Given the description of an element on the screen output the (x, y) to click on. 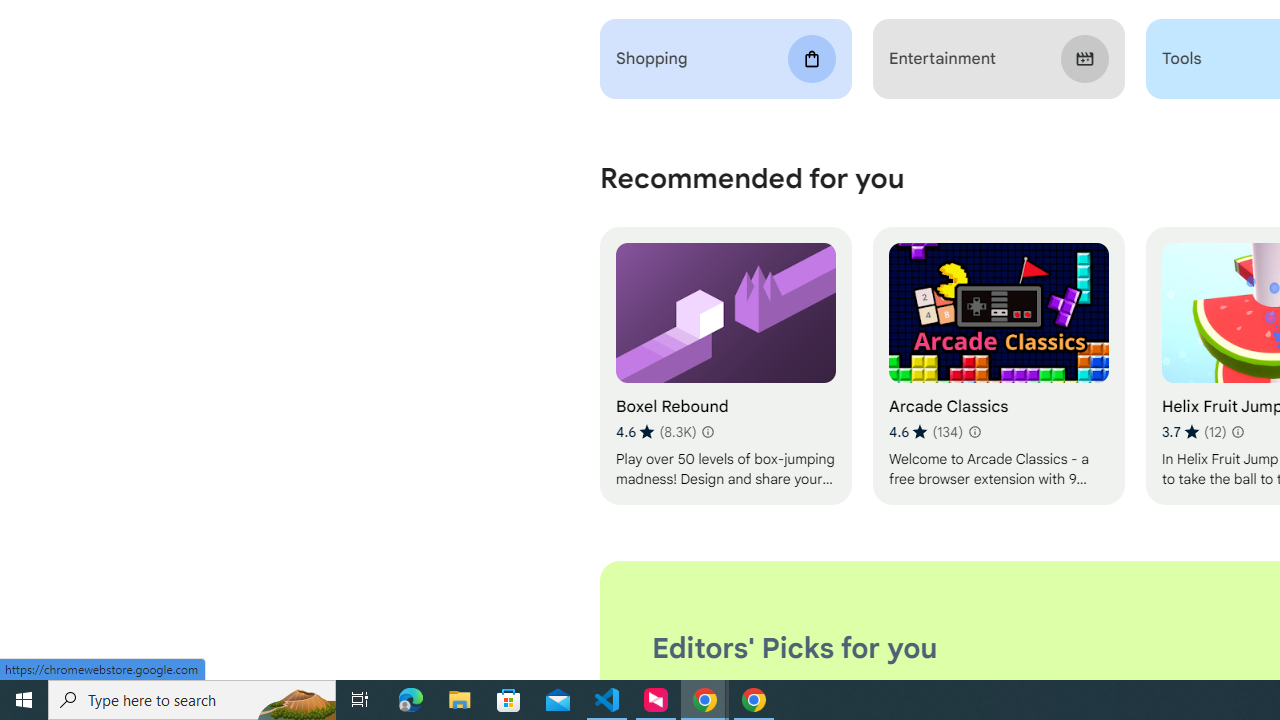
Shopping (725, 59)
Learn more about results and reviews "Boxel Rebound" (707, 431)
Learn more about results and reviews "Arcade Classics" (973, 431)
Entertainment (998, 59)
Average rating 4.6 out of 5 stars. 134 ratings. (925, 431)
Average rating 3.7 out of 5 stars. 12 ratings. (1193, 431)
Arcade Classics (998, 366)
Boxel Rebound (725, 366)
Average rating 4.6 out of 5 stars. 8.3K ratings. (655, 431)
